Given the description of an element on the screen output the (x, y) to click on. 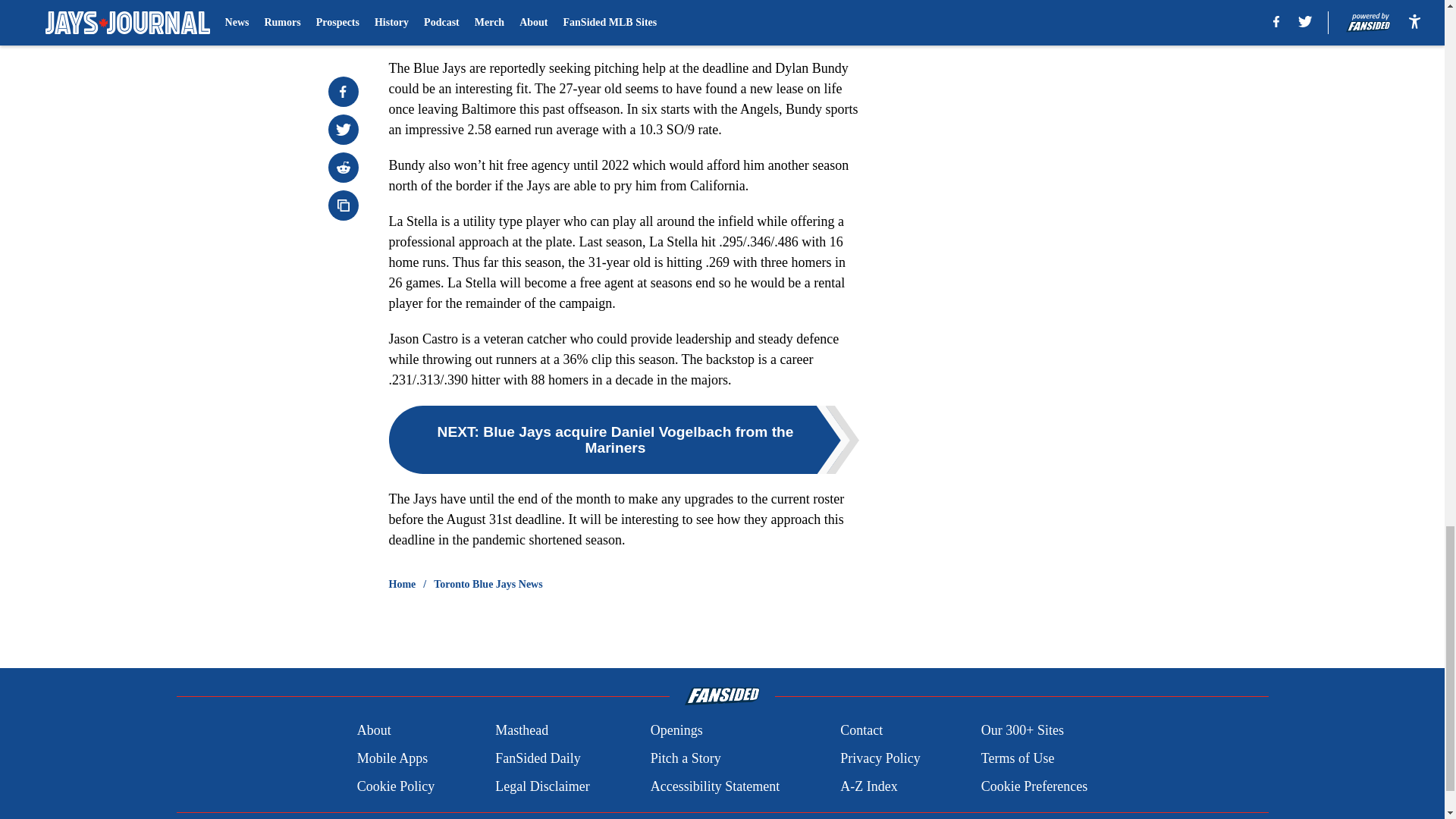
About (373, 730)
NEXT: Blue Jays acquire Daniel Vogelbach from the Mariners (623, 439)
Toronto Blue Jays News (488, 584)
Home (401, 584)
Blue Jays may have the tools to use a Bullpen Day (541, 11)
